Given the description of an element on the screen output the (x, y) to click on. 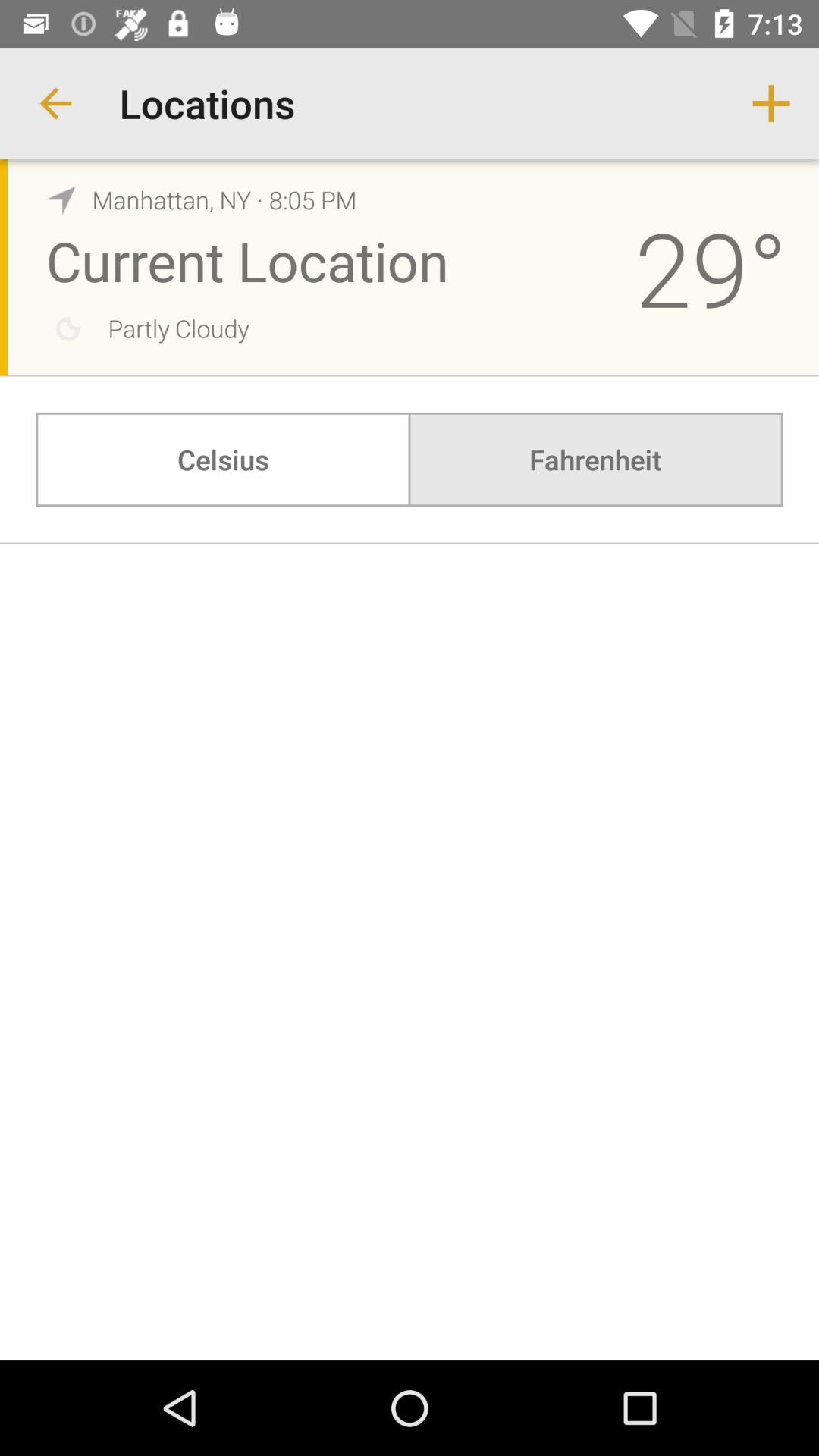
turn on app next to the locations item (55, 103)
